Given the description of an element on the screen output the (x, y) to click on. 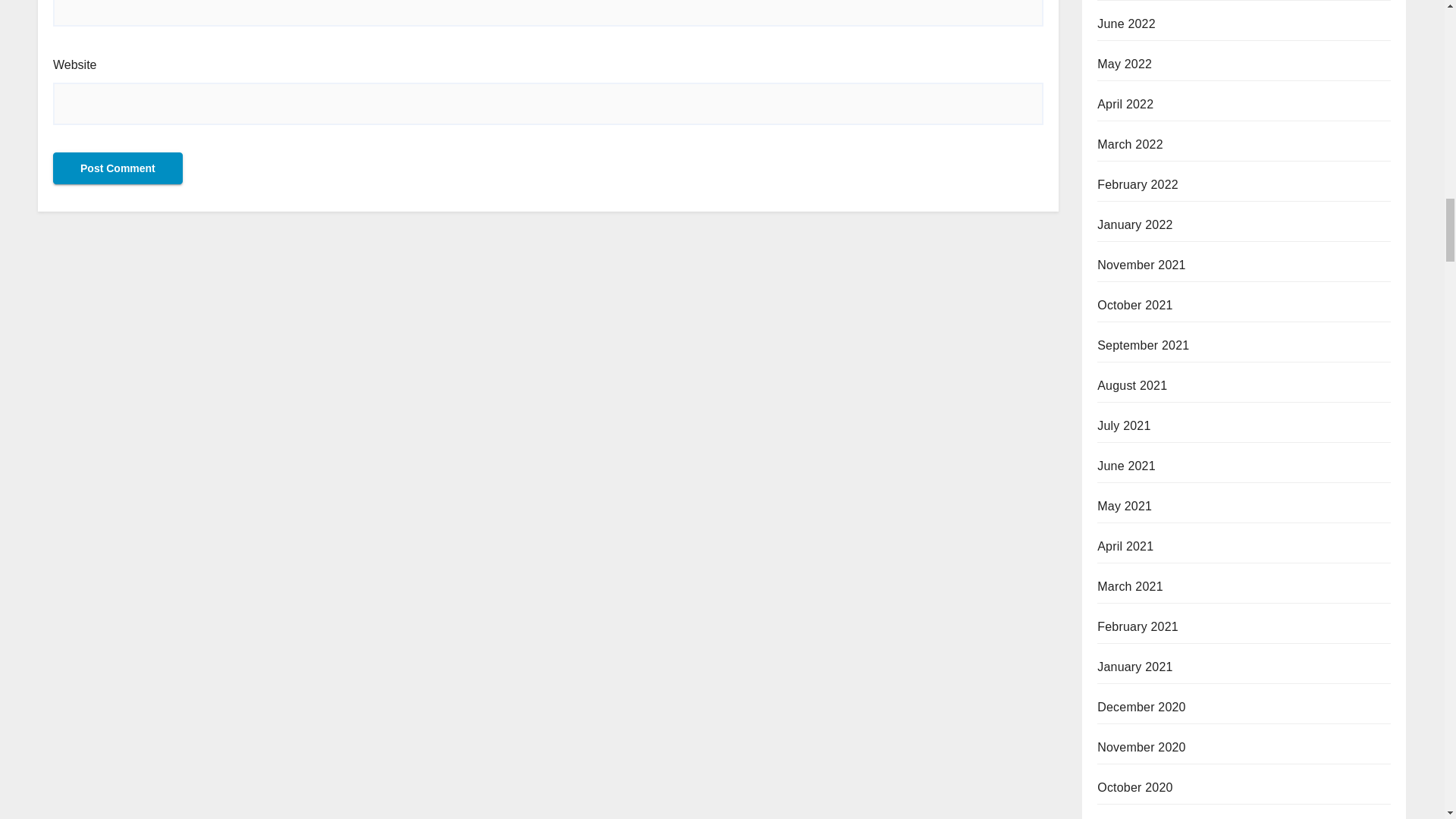
Post Comment (117, 168)
